Given the description of an element on the screen output the (x, y) to click on. 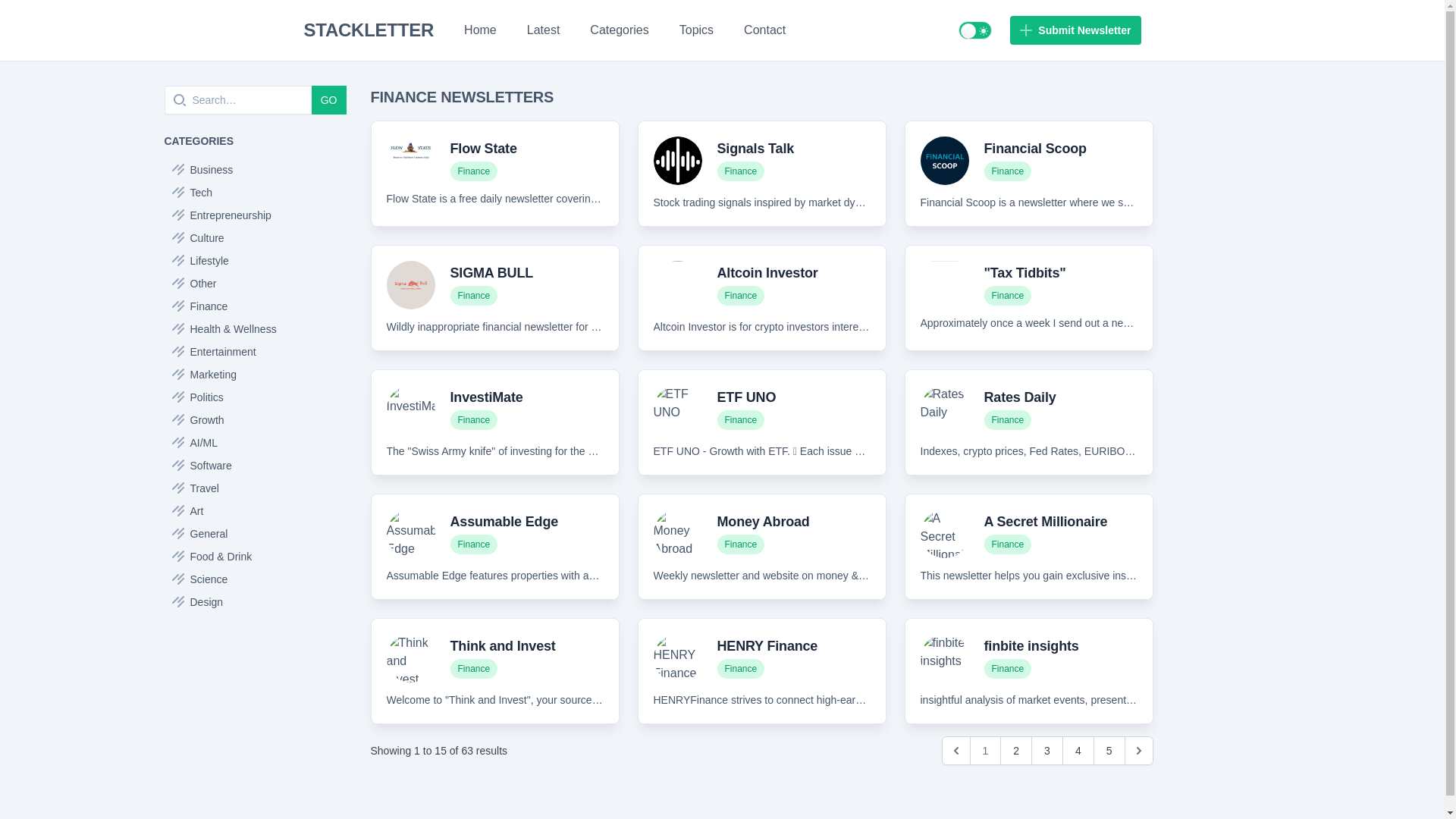
Contact (764, 30)
Design (254, 601)
Other (254, 282)
Politics (254, 396)
Growth (254, 419)
Categories (619, 30)
Flow State (482, 148)
Entrepreneurship (254, 214)
Topics (696, 30)
Tech (254, 191)
Lifestyle (254, 260)
Home (480, 30)
Finance (254, 305)
Marketing (254, 374)
